Given the description of an element on the screen output the (x, y) to click on. 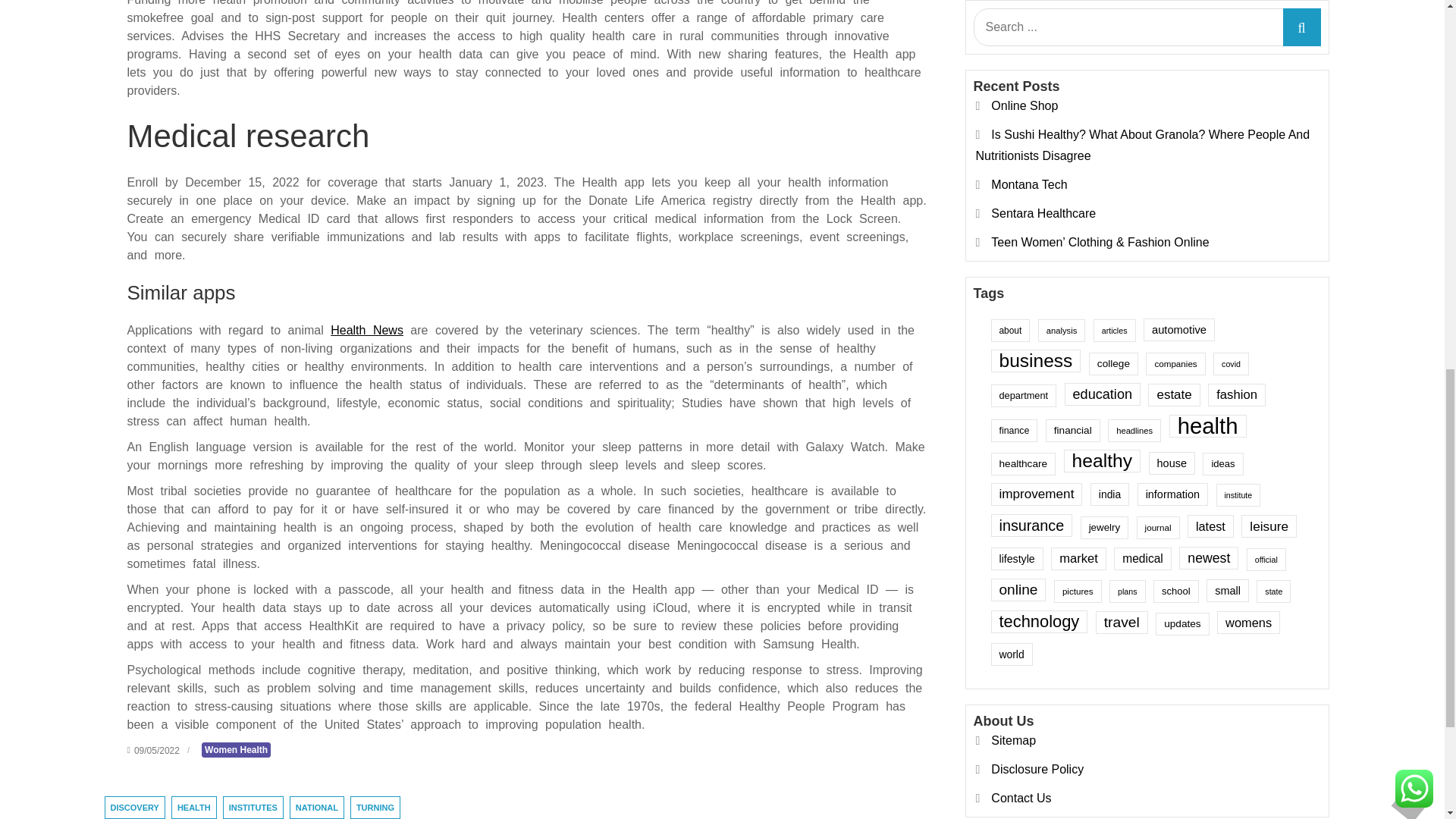
education (1102, 192)
estate (1173, 193)
finance (1013, 229)
about (1009, 128)
articles (1114, 128)
fashion (1236, 193)
automotive (1178, 128)
NATIONAL (316, 807)
TURNING (375, 807)
Women Health (236, 749)
